Given the description of an element on the screen output the (x, y) to click on. 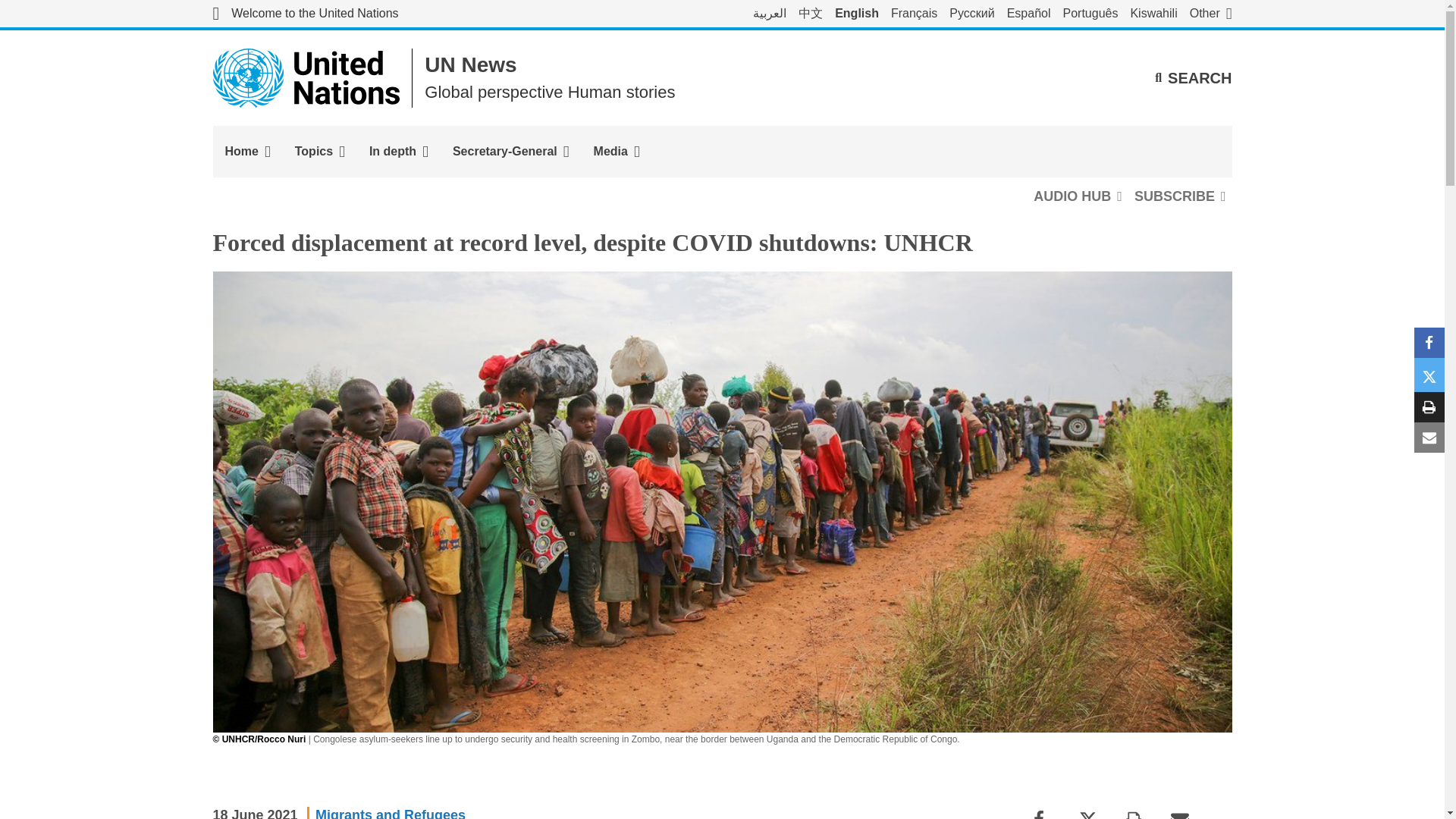
United Nations (304, 13)
Welcome to the United Nations (304, 13)
UN News (470, 64)
United Nations (305, 76)
Topics (319, 151)
SEARCH (1192, 77)
UN News (470, 64)
Home (247, 151)
Kiswahili (1152, 13)
Other (1210, 13)
